Given the description of an element on the screen output the (x, y) to click on. 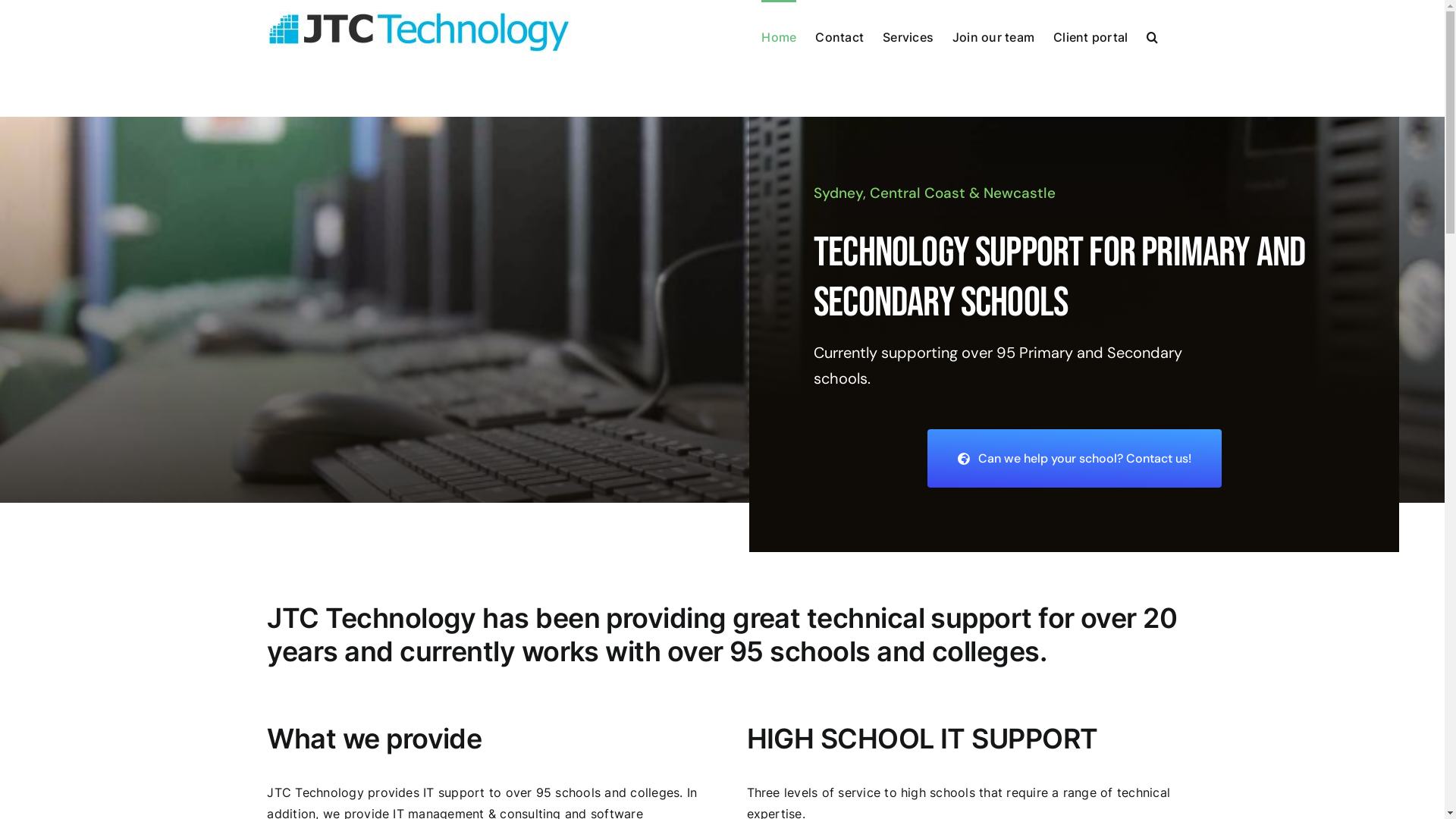
Services Element type: text (907, 35)
Home Element type: text (778, 35)
Join our team Element type: text (993, 35)
service to high schools Element type: text (906, 792)
Can we help your school? Contact us! Element type: text (1073, 458)
Contact Element type: text (839, 35)
Search Element type: hover (1151, 35)
HIGH SCHOOL IT SUPPORT Element type: text (921, 738)
Client portal Element type: text (1090, 35)
